Given the description of an element on the screen output the (x, y) to click on. 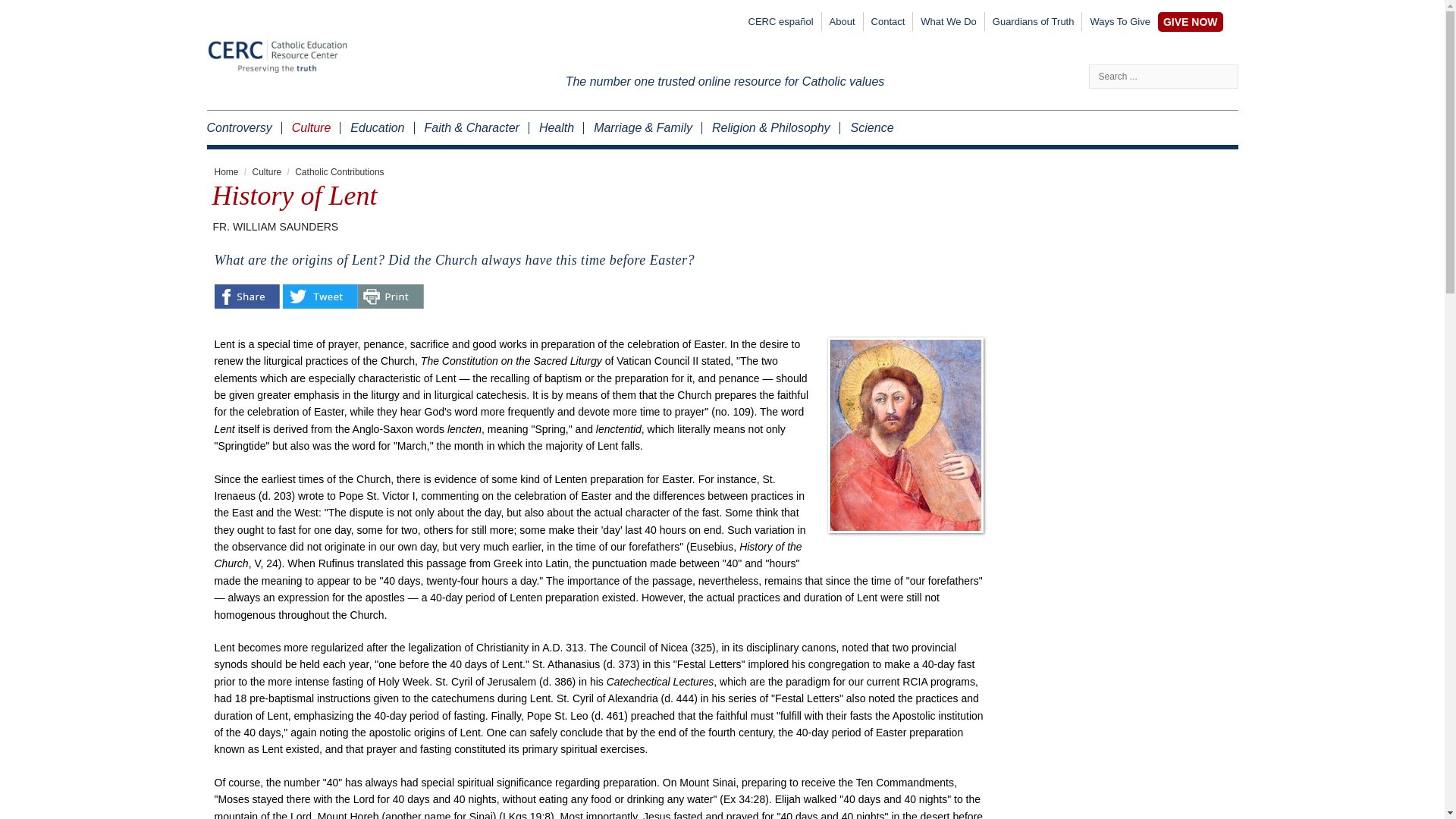
Contact (887, 24)
Education (376, 128)
Controversy (243, 128)
Culture (310, 128)
GIVE NOW (1190, 21)
About (842, 24)
Ways To Give (1119, 24)
Culture (266, 172)
Catholic Contributions (339, 172)
Guardians of Truth (1033, 24)
Science (866, 128)
Home (226, 172)
What We Do (948, 24)
Health (555, 128)
